Given the description of an element on the screen output the (x, y) to click on. 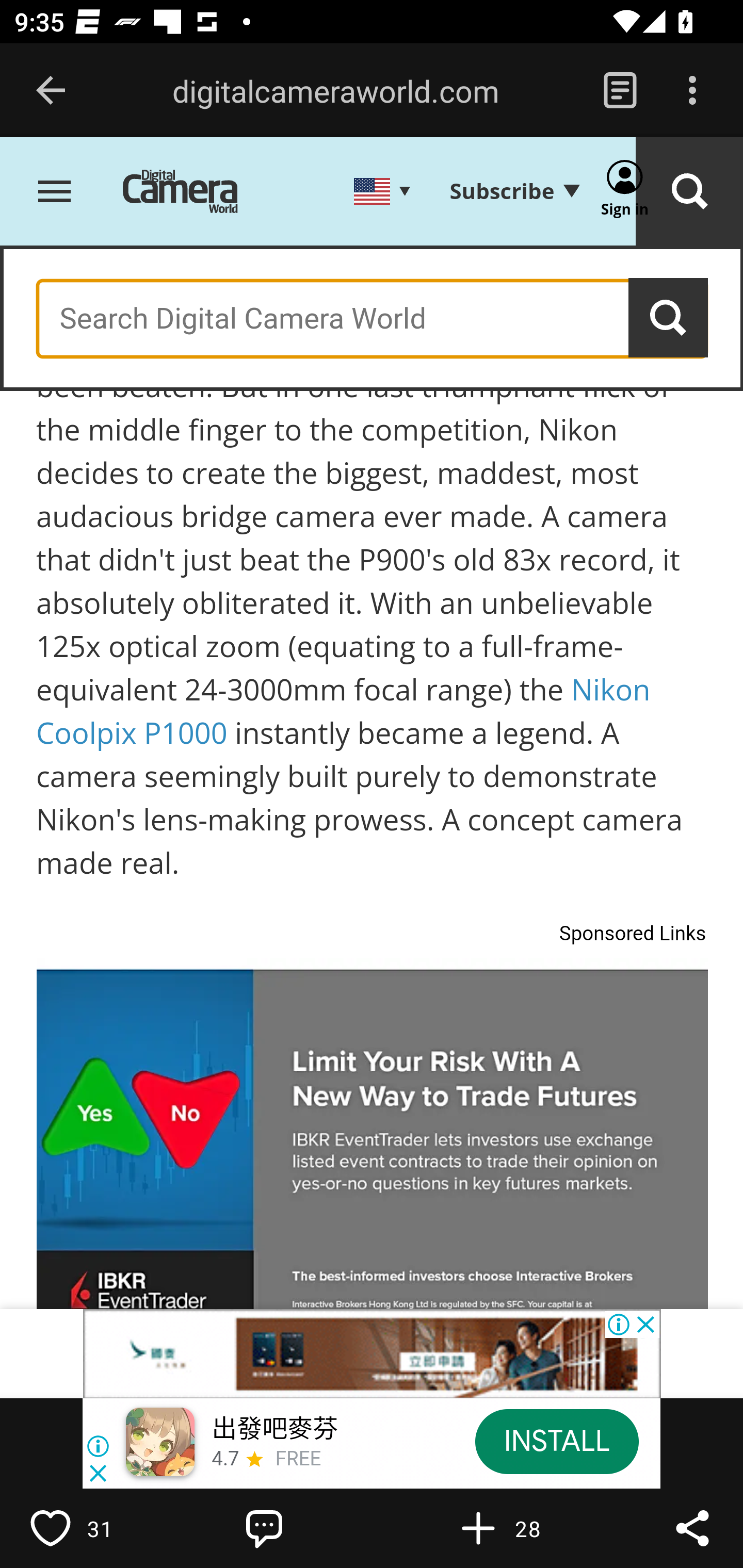
Back (50, 90)
Reader View (619, 90)
Options (692, 90)
Open menu (54, 192)
Digital Camera World (194, 192)
Sign in (625, 192)
Search (689, 192)
Subscribe (514, 191)
Search (668, 318)
Nikon Coolpix P1000 (343, 711)
Sponsored Links (632, 932)
INSTALL (556, 1441)
出發吧麥芬 (274, 1429)
Like 31 (93, 1528)
Write a comment… (307, 1528)
Flip into Magazine 28 (521, 1528)
Share (692, 1528)
